Given the description of an element on the screen output the (x, y) to click on. 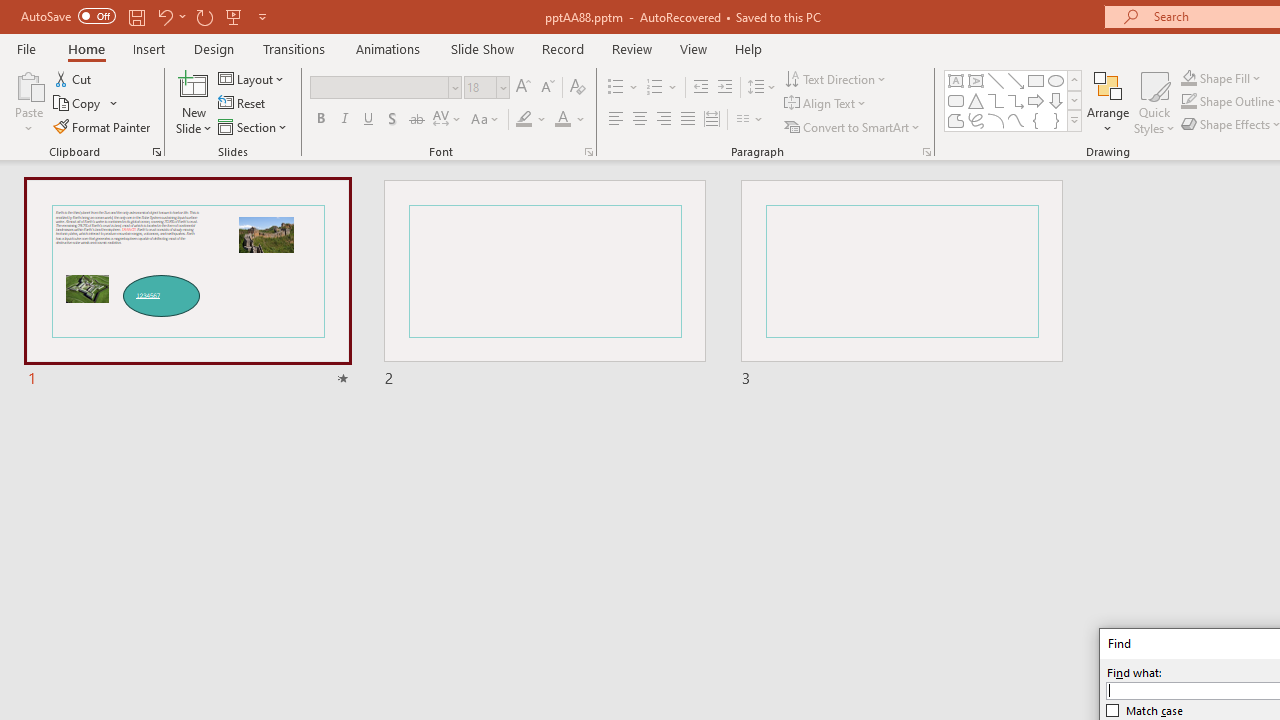
Shape Outline Teal, Accent 1 (1188, 101)
